Given the description of an element on the screen output the (x, y) to click on. 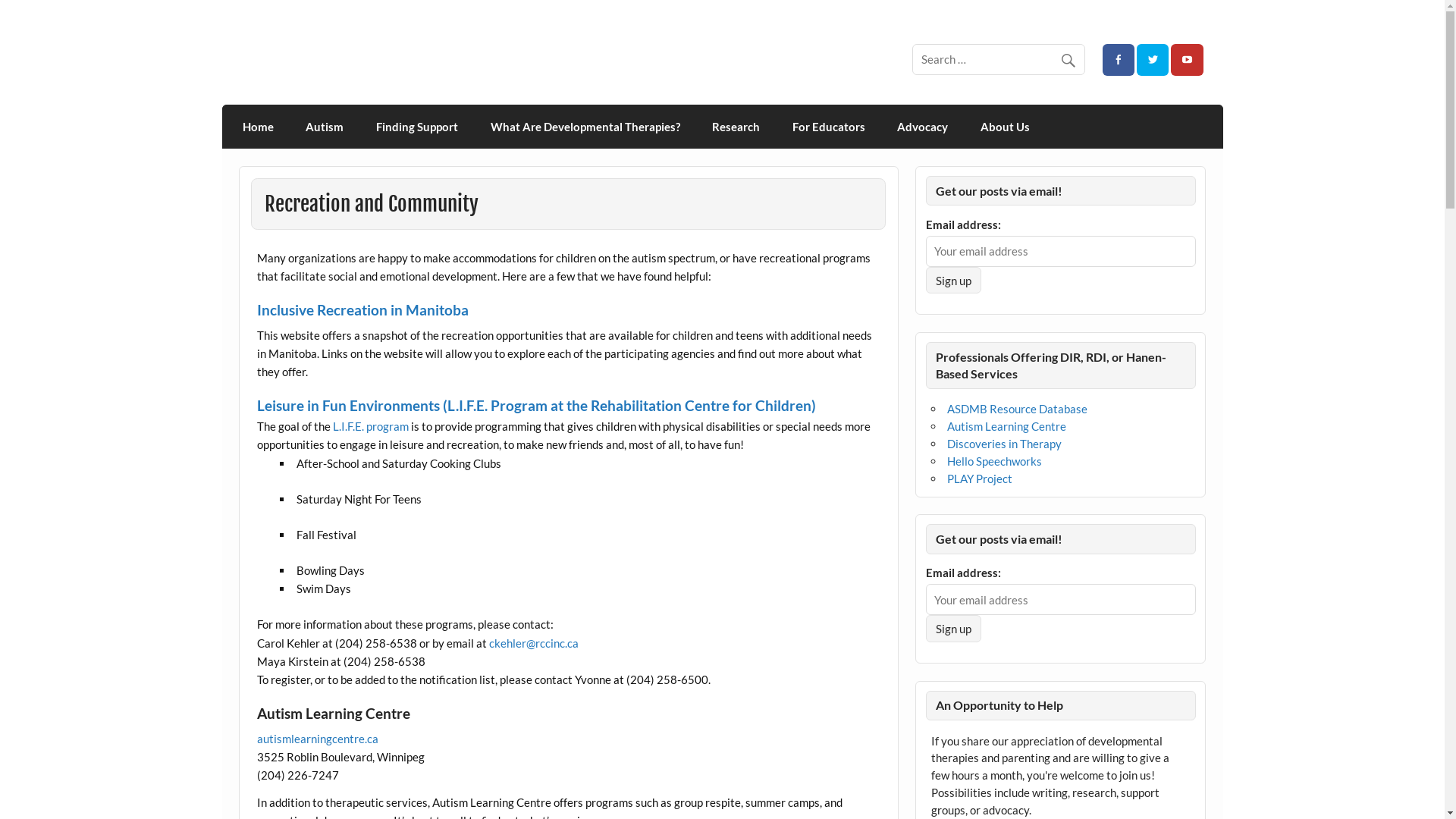
Home Element type: text (258, 126)
Research Element type: text (736, 126)
Autism Learning Centre Element type: text (1006, 426)
Advocacy Element type: text (922, 126)
Hello Speechworks Element type: text (994, 460)
Discoveries in Therapy Element type: text (1004, 443)
PLAY Project Element type: text (979, 478)
What Are Developmental Therapies? Element type: text (584, 126)
L.I.F.E. program Element type: text (370, 426)
For Educators Element type: text (828, 126)
Finding Support Element type: text (417, 126)
autismlearningcentre.ca Element type: text (317, 738)
Sign up Element type: text (953, 628)
Sign up Element type: text (953, 279)
ckehler@rccinc.ca Element type: text (533, 642)
Inclusive Recreation in Manitoba Element type: text (362, 309)
Autism Element type: text (324, 126)
ASDMB Resource Database Element type: text (1017, 408)
About Us Element type: text (1005, 126)
